Given the description of an element on the screen output the (x, y) to click on. 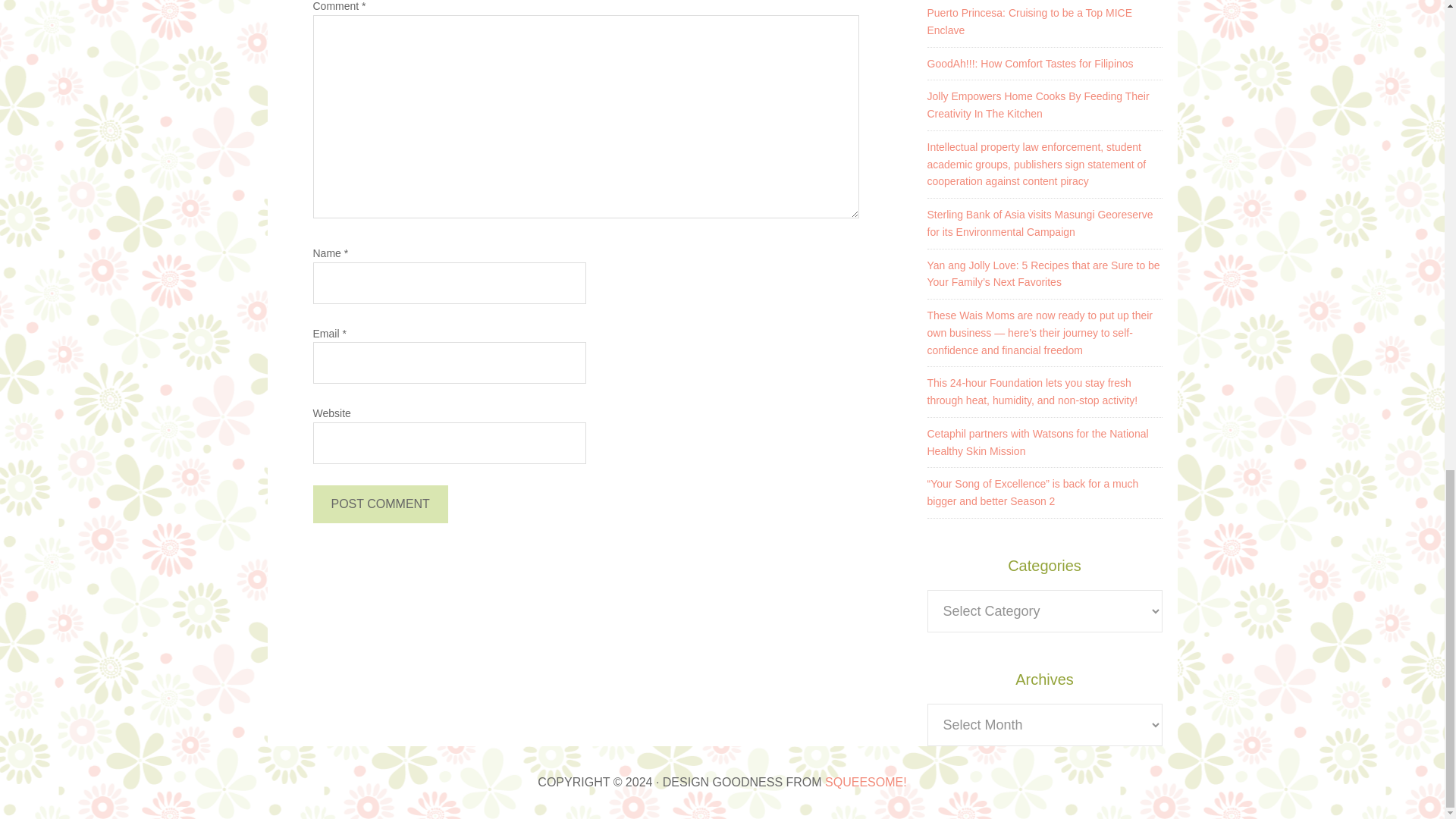
GoodAh!!!: How Comfort Tastes for Filipinos (1029, 63)
Post Comment (379, 504)
Puerto Princesa: Cruising to be a Top MICE Enclave (1029, 21)
Post Comment (379, 504)
SQUEESOME! (866, 781)
